Given the description of an element on the screen output the (x, y) to click on. 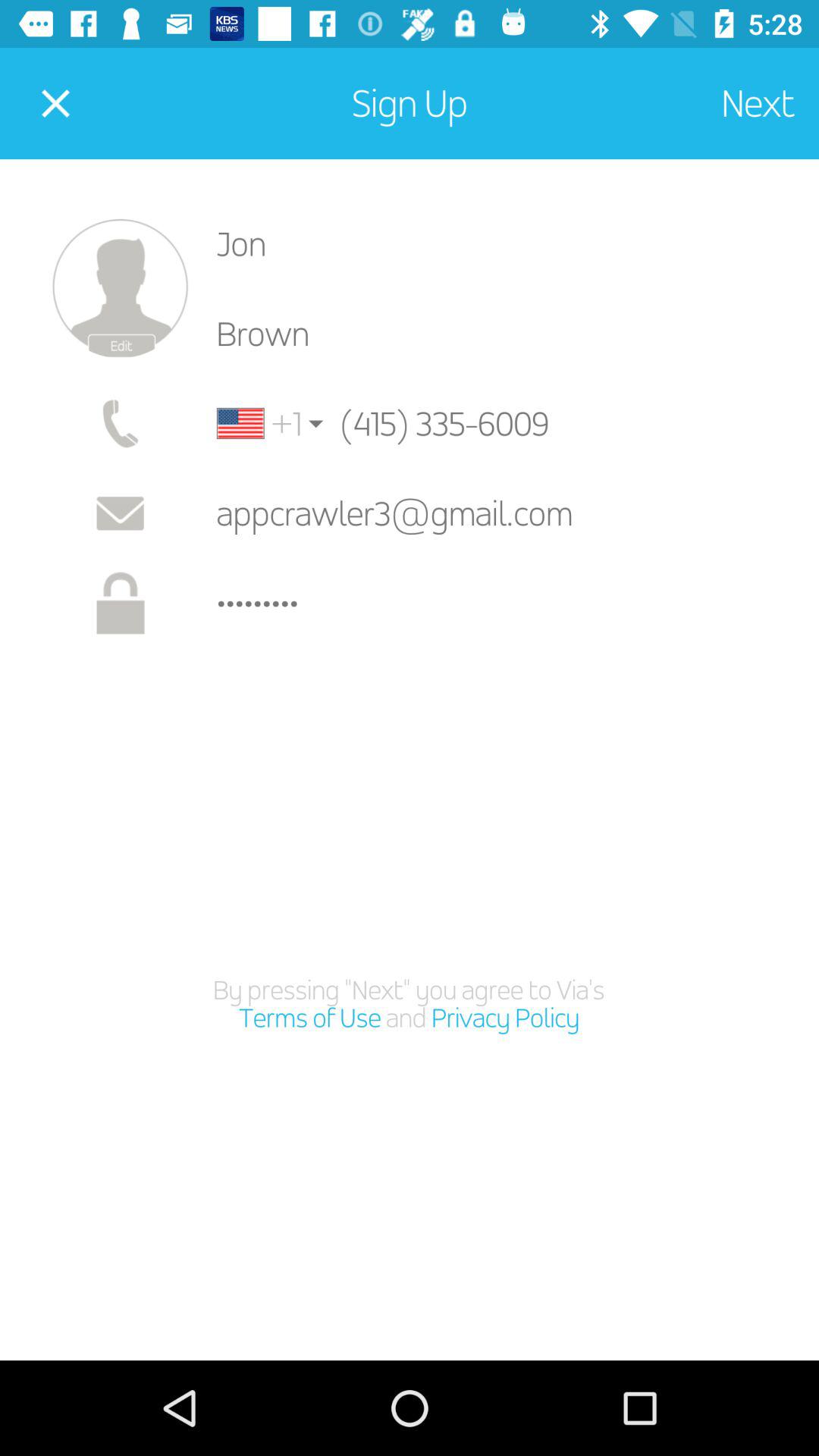
choose the item below brown icon (259, 423)
